Given the description of an element on the screen output the (x, y) to click on. 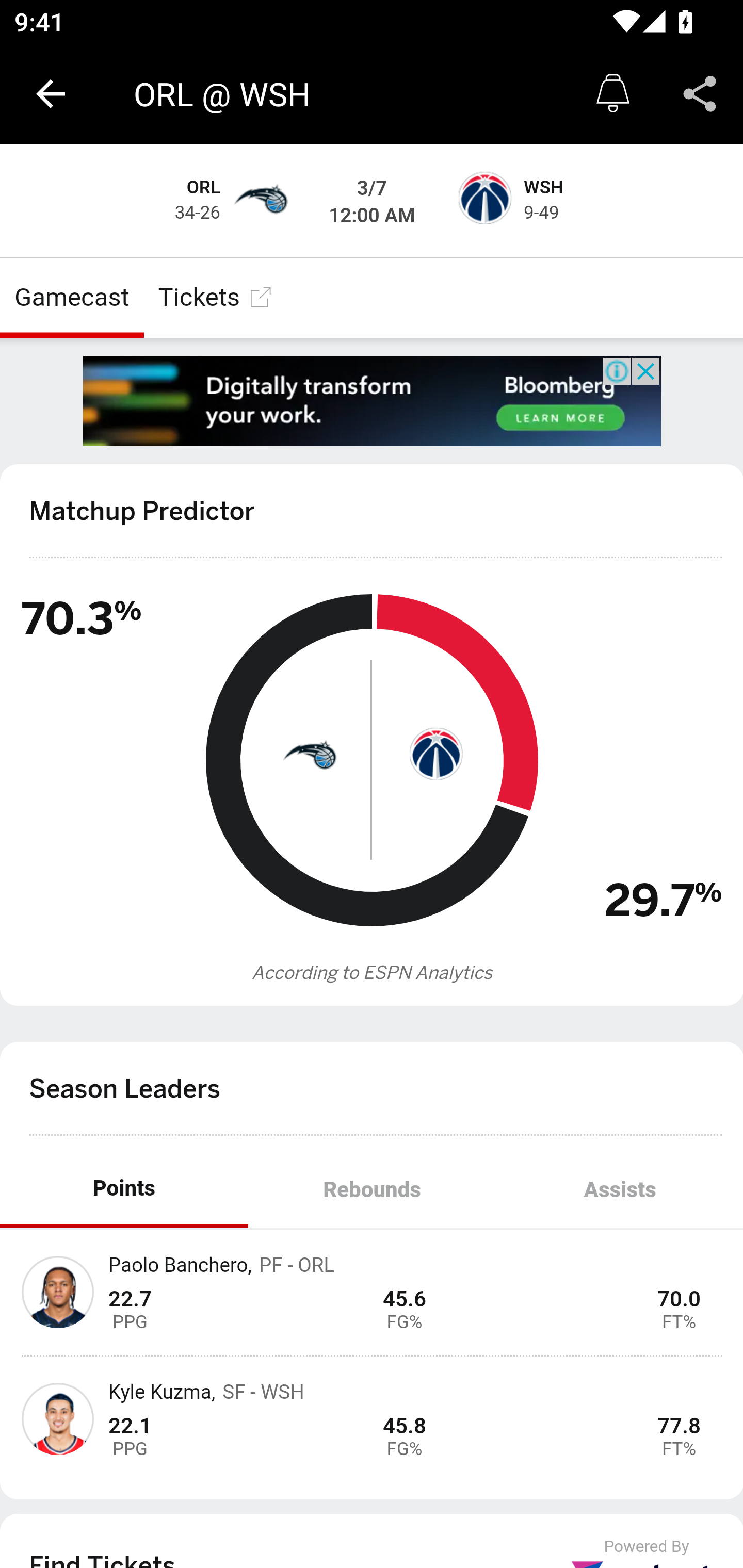
Navigate up (50, 93)
Alerts í (612, 93)
Share (699, 93)
Orlando Magic (260, 200)
Washington Wizards (483, 200)
ORL (203, 187)
WSH (543, 187)
Gamecast (72, 296)
Tickets External Link Tickets External Link (215, 296)
Orlando Magic (308, 753)
Washington Wizards (434, 753)
According to ESPN Analytics (372, 972)
Points (124, 1189)
Rebounds (371, 1189)
Assists (618, 1189)
Powered By VividSeats Powered By VividSeats (646, 1553)
